Given the description of an element on the screen output the (x, y) to click on. 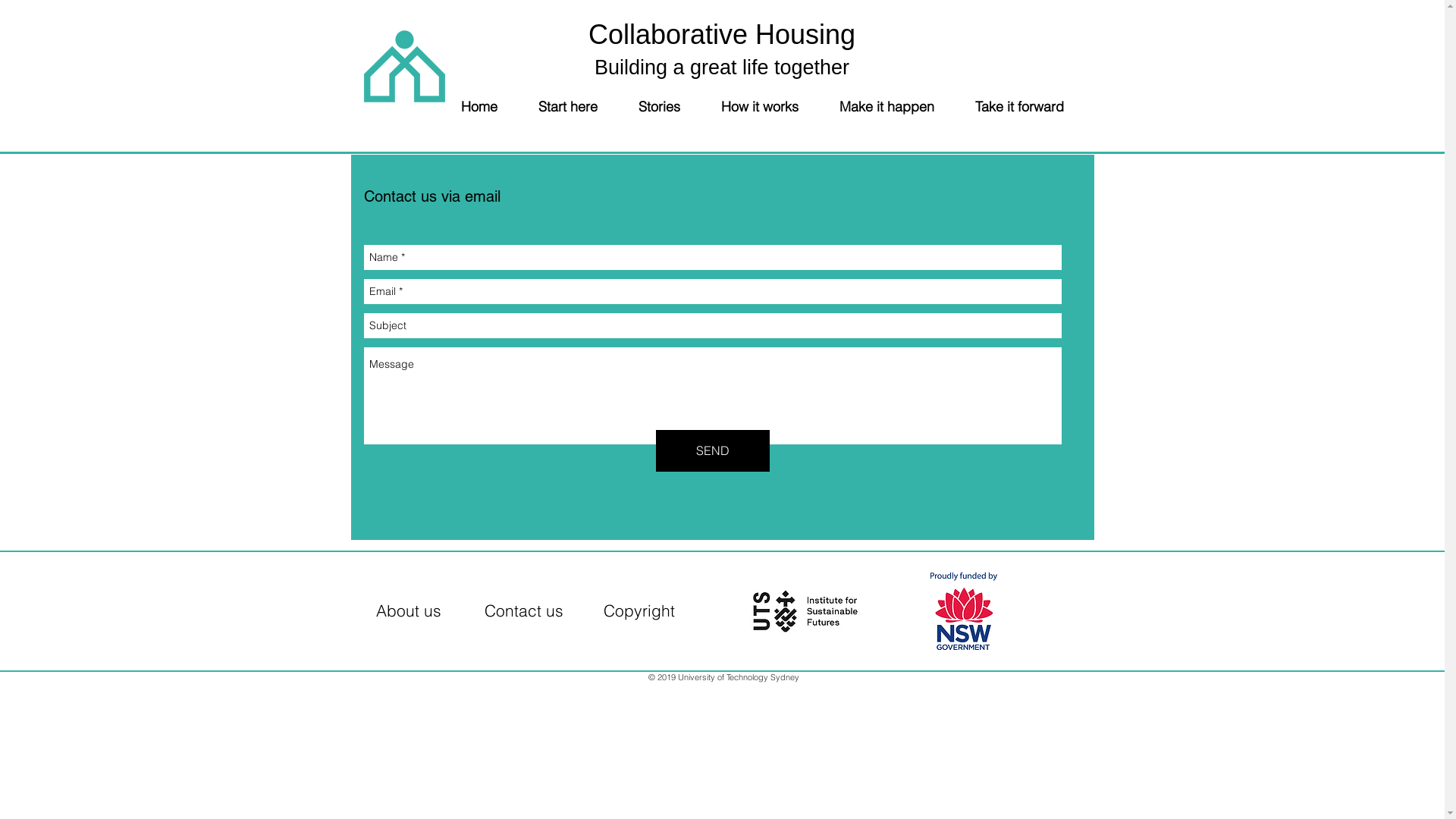
About us Element type: text (408, 611)
Home Element type: text (488, 105)
UTS_ISF_Logo_Vertical_BLK _web.jpeg Element type: hover (805, 610)
Collaborative Housing Element type: text (721, 34)
SEND Element type: text (711, 450)
Contact us Element type: text (522, 611)
Proudly-funded-by-the-NSW-Government-web Element type: hover (962, 611)
Copyright Element type: text (638, 611)
Building a great life together Element type: text (721, 67)
